Given the description of an element on the screen output the (x, y) to click on. 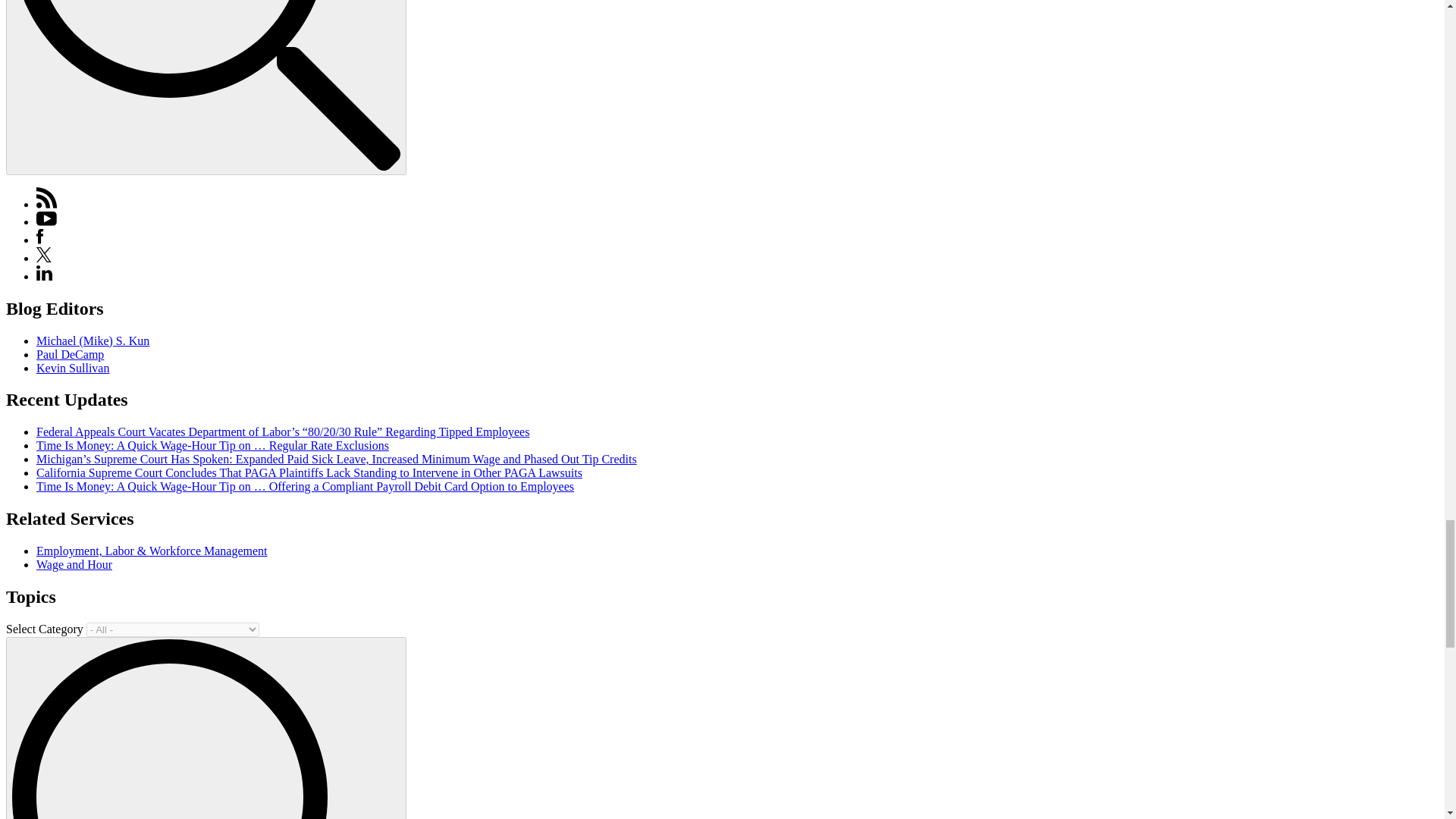
Twitter (43, 257)
Youtube (46, 221)
Linkedin (44, 276)
